Given the description of an element on the screen output the (x, y) to click on. 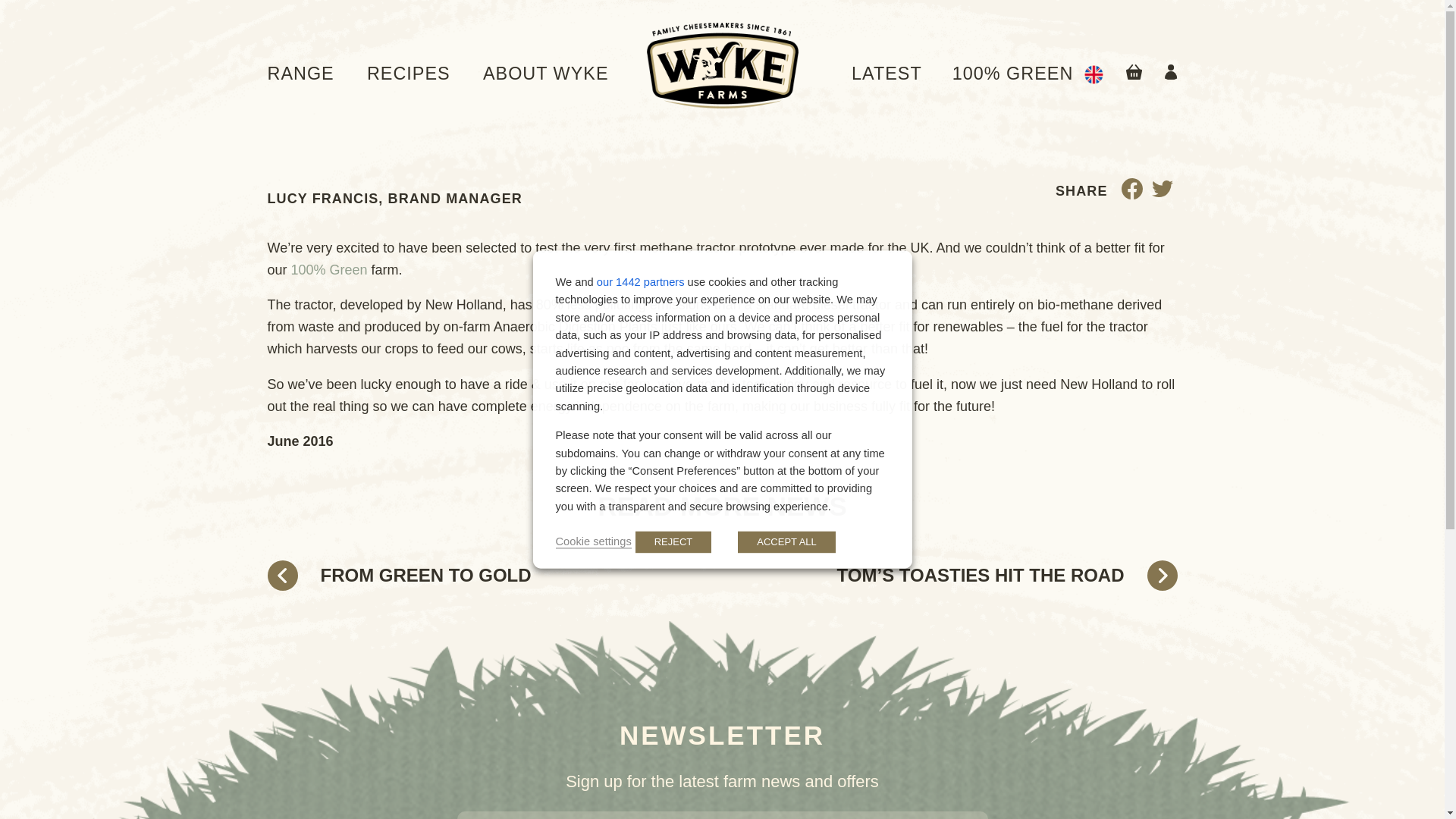
Twitter (1161, 192)
RECIPES (407, 73)
ABOUT WYKE (545, 73)
LATEST (886, 73)
RANGE (299, 73)
Facebook (1131, 192)
